Given the description of an element on the screen output the (x, y) to click on. 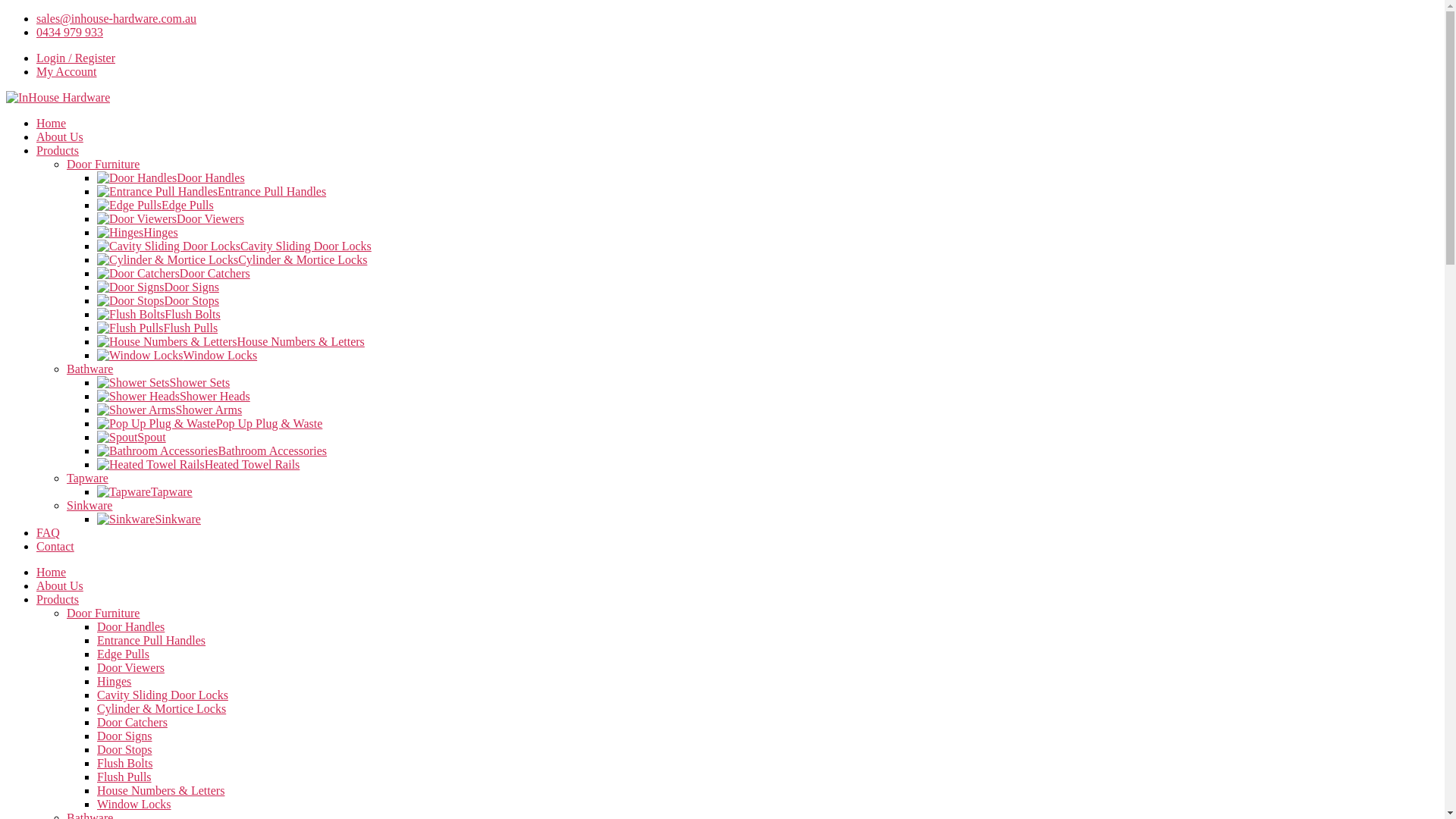
House Numbers & Letters Element type: text (160, 790)
About Us Element type: text (59, 136)
Shower Heads Element type: text (214, 395)
Door Signs Element type: text (124, 735)
Products Element type: text (57, 150)
Sinkware Element type: text (177, 518)
My Account Element type: text (66, 71)
Heated Towel Rails Element type: text (252, 464)
Cavity Sliding Door Locks Element type: text (162, 694)
Edge Pulls Element type: text (123, 653)
Door Handles Element type: text (210, 177)
0434 979 933 Element type: text (69, 31)
Door Viewers Element type: text (130, 667)
Door Catchers Element type: text (214, 272)
Spout Element type: text (151, 436)
Bathware Element type: text (89, 368)
FAQ Element type: text (47, 532)
Login / Register Element type: text (75, 57)
Pop Up Plug & Waste Element type: text (269, 423)
Products Element type: text (57, 599)
Tapware Element type: text (87, 477)
Home Element type: text (50, 571)
Tapware Element type: text (171, 491)
House Numbers & Letters Element type: text (300, 341)
Window Locks Element type: text (134, 803)
Door Signs Element type: text (190, 286)
Door Furniture Element type: text (102, 163)
sales@inhouse-hardware.com.au Element type: text (116, 18)
Hinges Element type: text (160, 231)
Home Element type: text (50, 122)
Shower Sets Element type: text (199, 382)
Cavity Sliding Door Locks Element type: text (305, 245)
Shower Arms Element type: text (208, 409)
Cylinder & Mortice Locks Element type: text (161, 708)
Cylinder & Mortice Locks Element type: text (302, 259)
Entrance Pull Handles Element type: text (271, 191)
Flush Pulls Element type: text (124, 776)
Flush Bolts Element type: text (124, 762)
Door Viewers Element type: text (210, 218)
Door Furniture Element type: text (102, 612)
Flush Bolts Element type: text (191, 313)
Edge Pulls Element type: text (187, 204)
Door Handles Element type: text (130, 626)
Door Catchers Element type: text (132, 721)
Window Locks Element type: text (220, 354)
Sinkware Element type: text (89, 504)
Door Stops Element type: text (124, 749)
Flush Pulls Element type: text (190, 327)
About Us Element type: text (59, 585)
Bathroom Accessories Element type: text (272, 450)
Entrance Pull Handles Element type: text (151, 639)
Contact Element type: text (55, 545)
Door Stops Element type: text (190, 300)
Hinges Element type: text (114, 680)
